Given the description of an element on the screen output the (x, y) to click on. 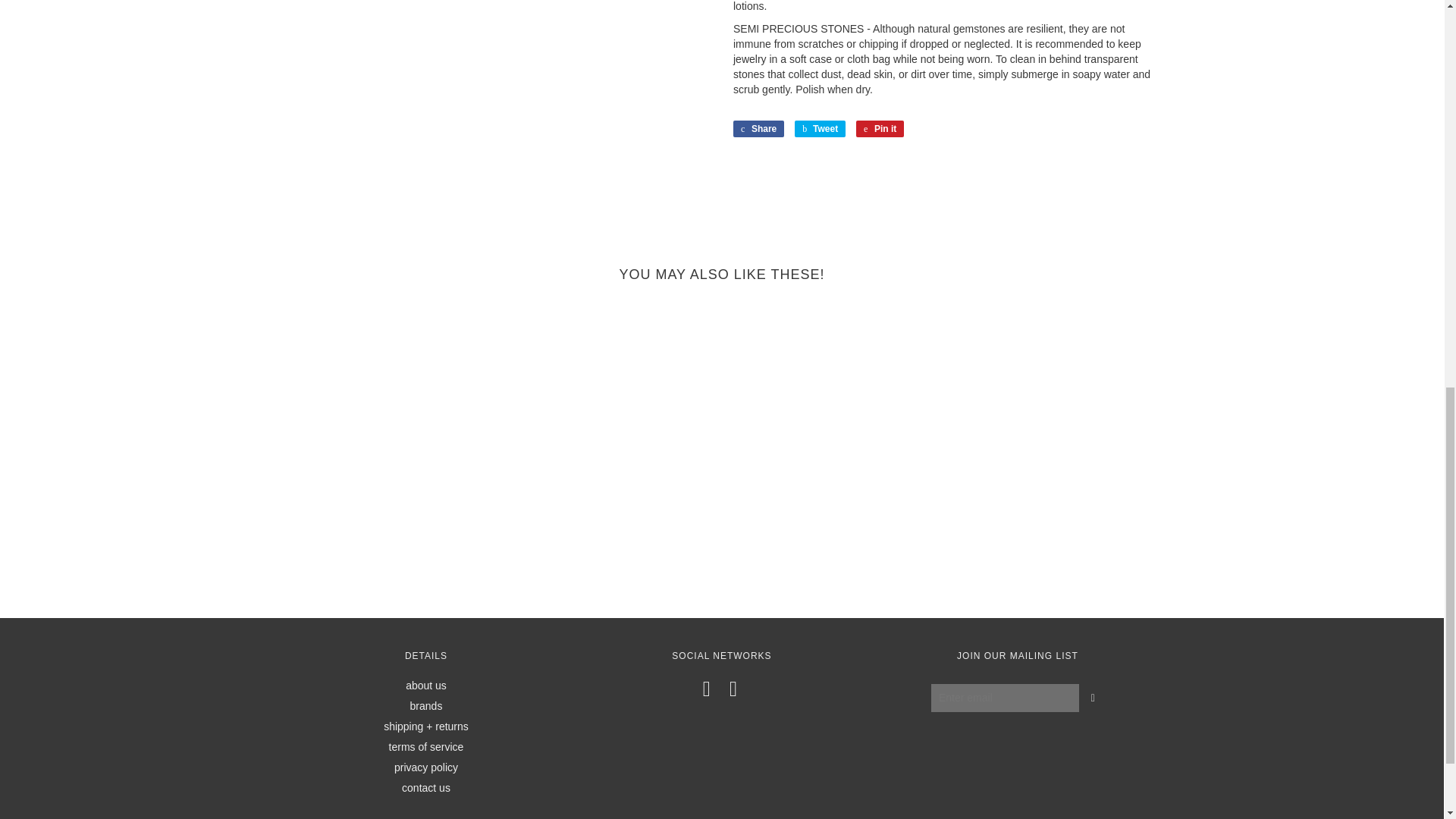
Share (758, 128)
Tweet (819, 128)
